Given the description of an element on the screen output the (x, y) to click on. 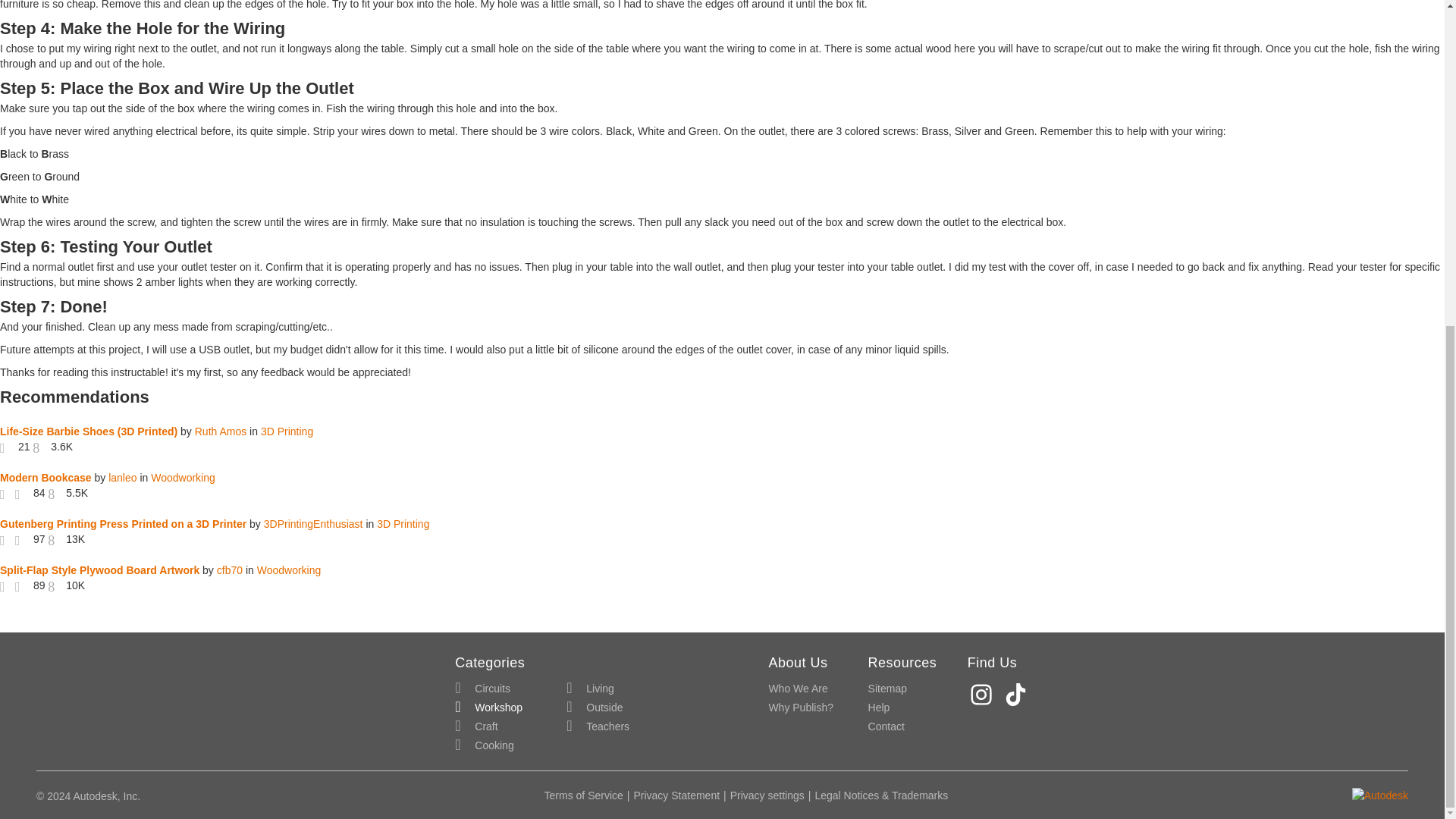
Modern Bookcase (45, 477)
3DPrintingEnthusiast (312, 523)
Workshop (488, 707)
Instagram (983, 694)
Circuits (482, 688)
Favorites Count (22, 584)
Ruth Amos (220, 431)
3D Printing (286, 431)
cfb70 (229, 570)
Living (590, 688)
